Given the description of an element on the screen output the (x, y) to click on. 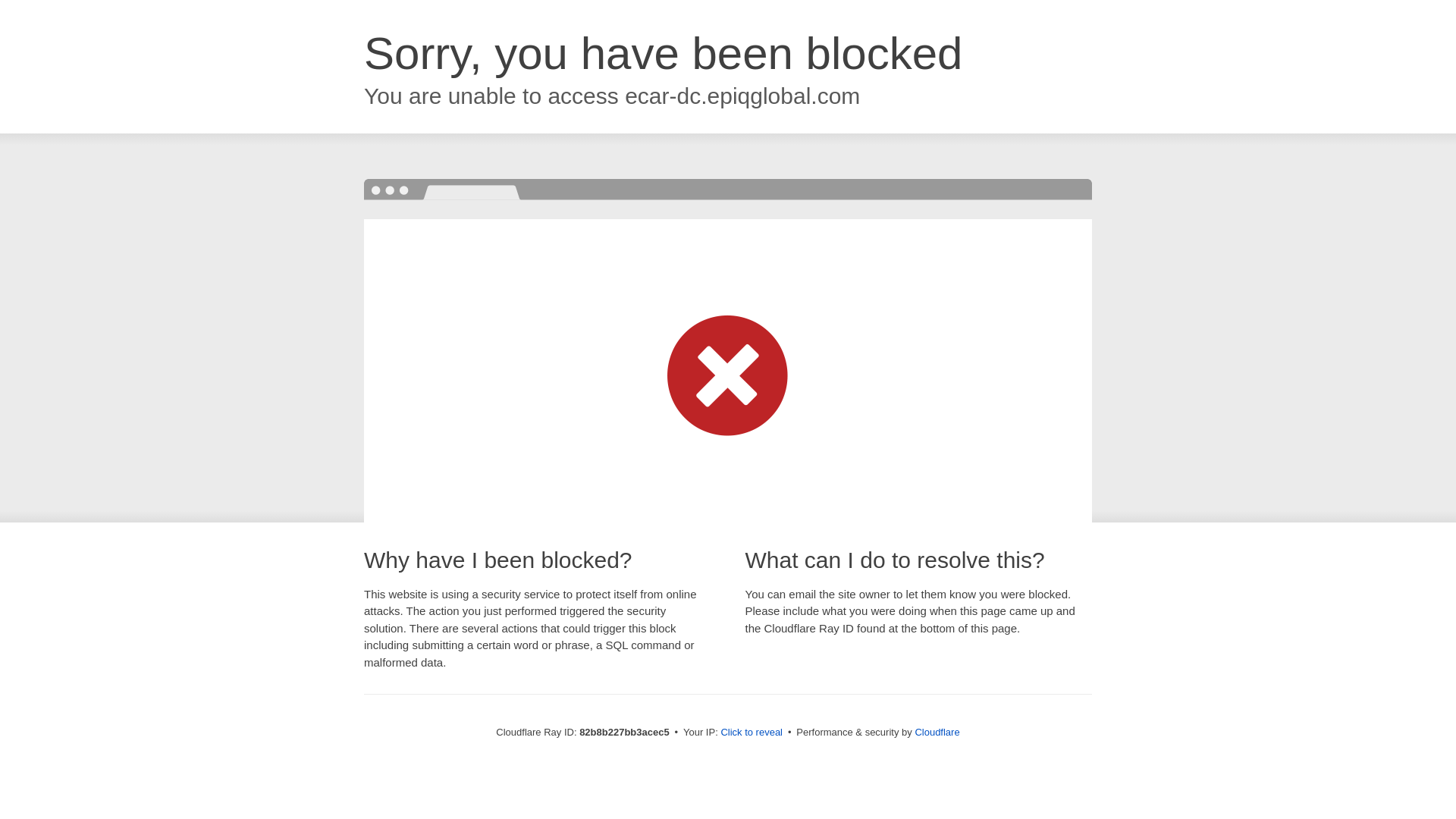
Click to reveal Element type: text (751, 732)
Cloudflare Element type: text (936, 731)
